Given the description of an element on the screen output the (x, y) to click on. 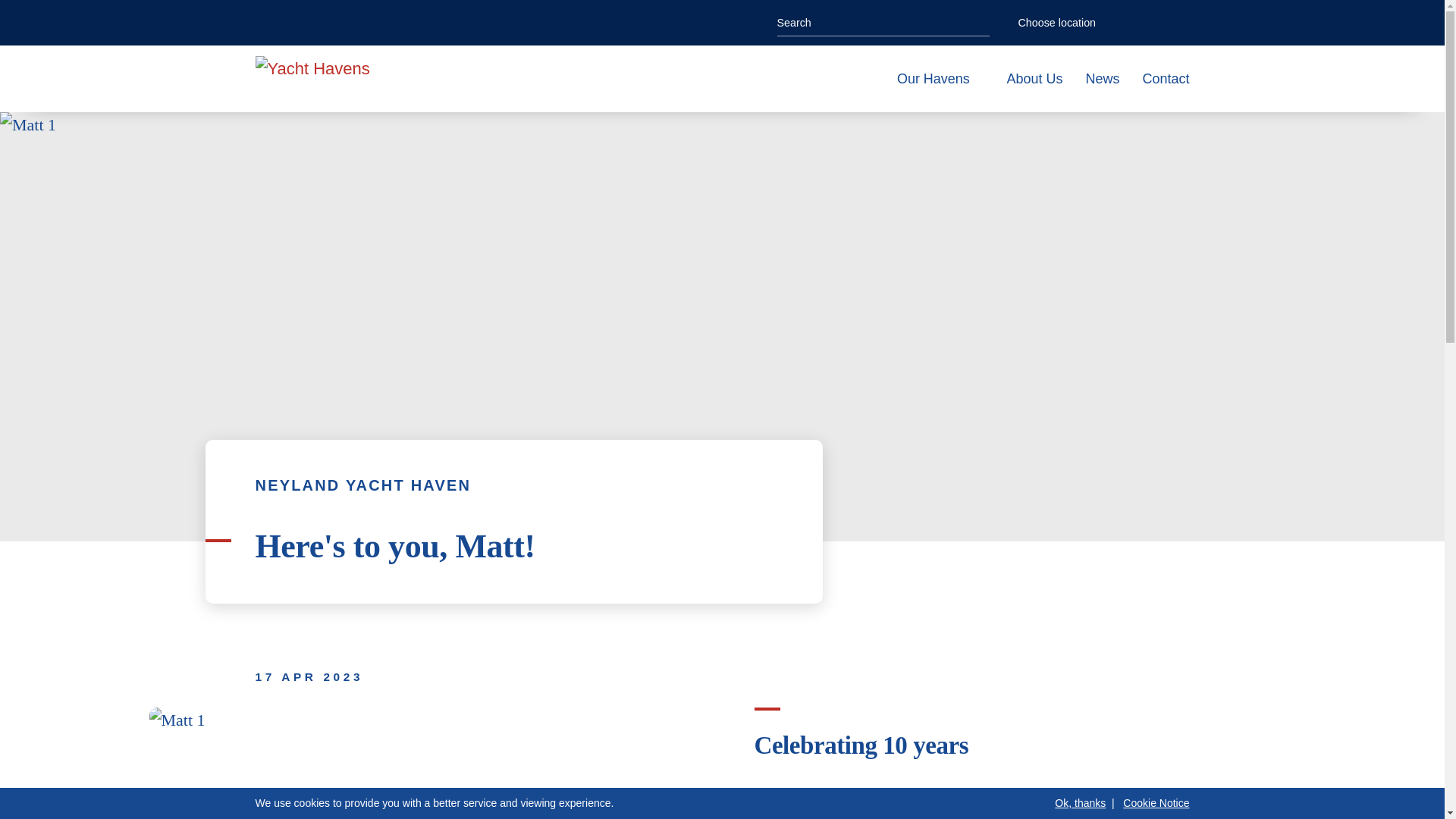
Search (979, 22)
